Given the description of an element on the screen output the (x, y) to click on. 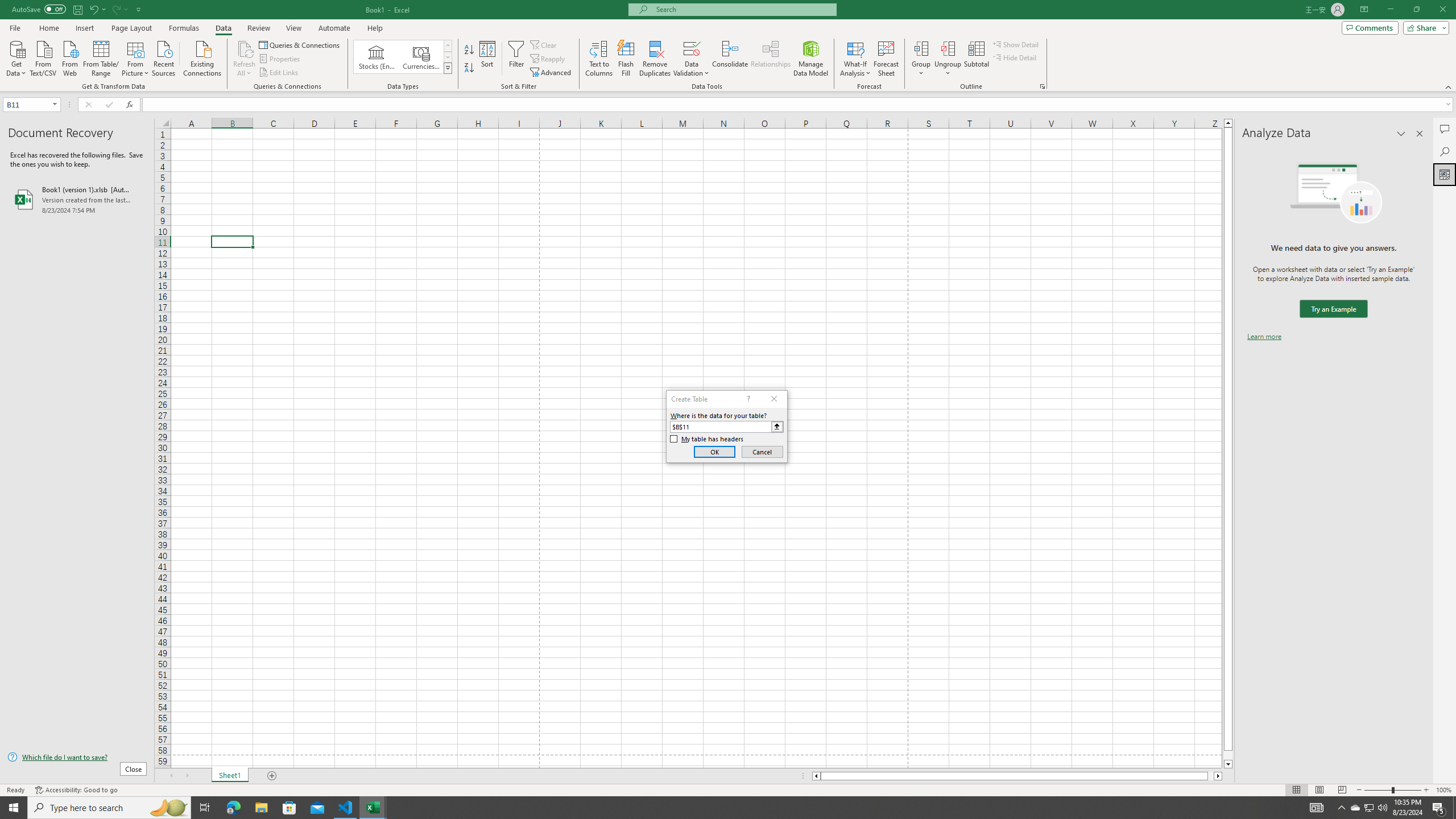
Consolidate... (729, 58)
